Given the description of an element on the screen output the (x, y) to click on. 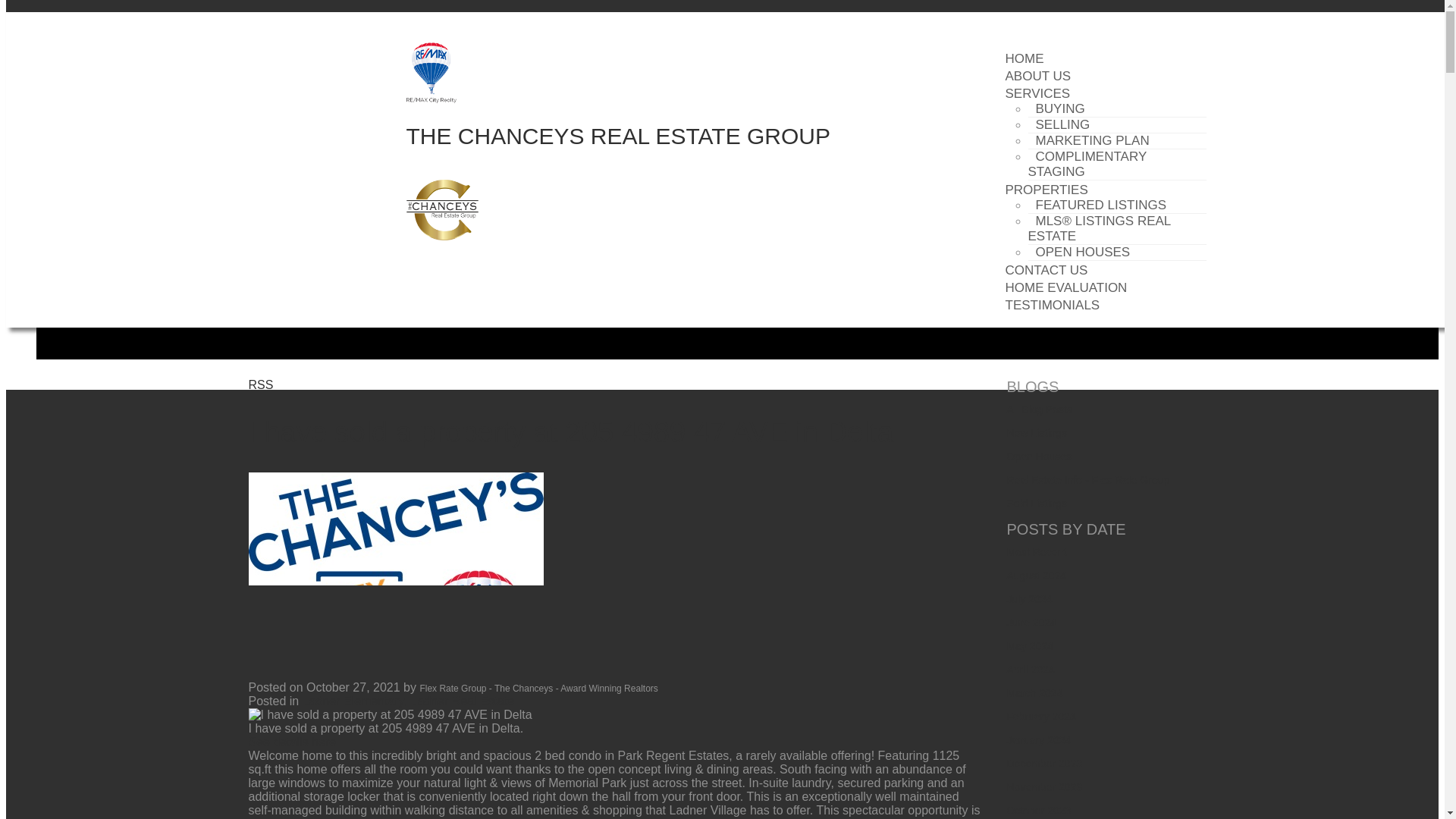
Open Houses (1039, 456)
HOME EVALUATION (1066, 287)
February 2024 (1041, 716)
SIGN UP (328, 22)
FEATURED LISTINGS (1100, 204)
Sold Listings (1037, 503)
July 2024 (1029, 598)
ABOUT US (1037, 75)
New Listings (1037, 432)
BUYING (1060, 108)
